Given the description of an element on the screen output the (x, y) to click on. 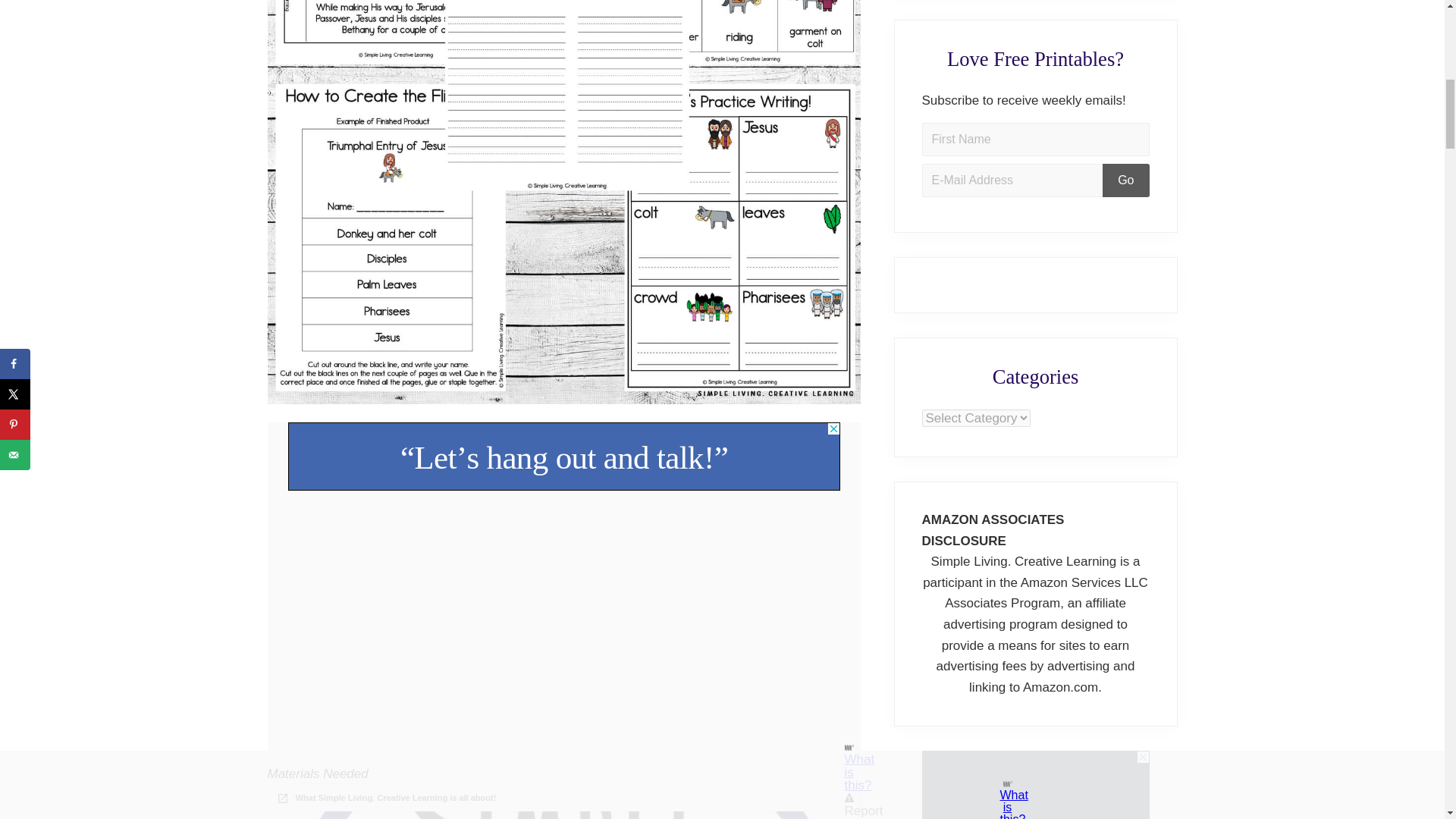
  What Simple Living. Creative Learning is all about! (386, 797)
3rd party ad content (564, 456)
Go (1125, 180)
3rd party ad content (1035, 785)
